Given the description of an element on the screen output the (x, y) to click on. 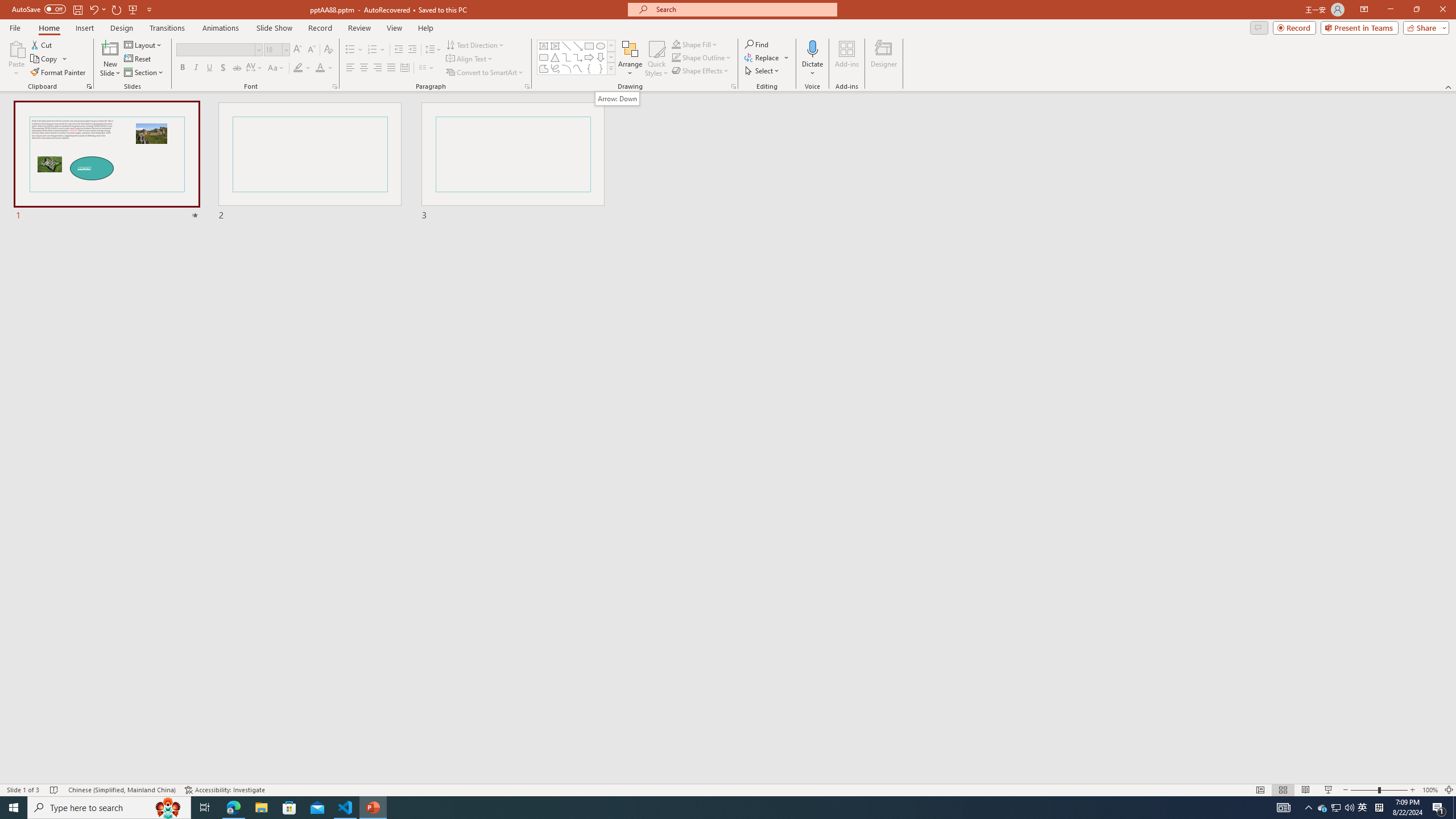
Paragraph... (526, 85)
Distributed (404, 67)
Freeform: Shape (543, 68)
Format Painter (58, 72)
Zoom 100% (1430, 790)
Underline (209, 67)
Row Down (611, 56)
Shadow (223, 67)
